Given the description of an element on the screen output the (x, y) to click on. 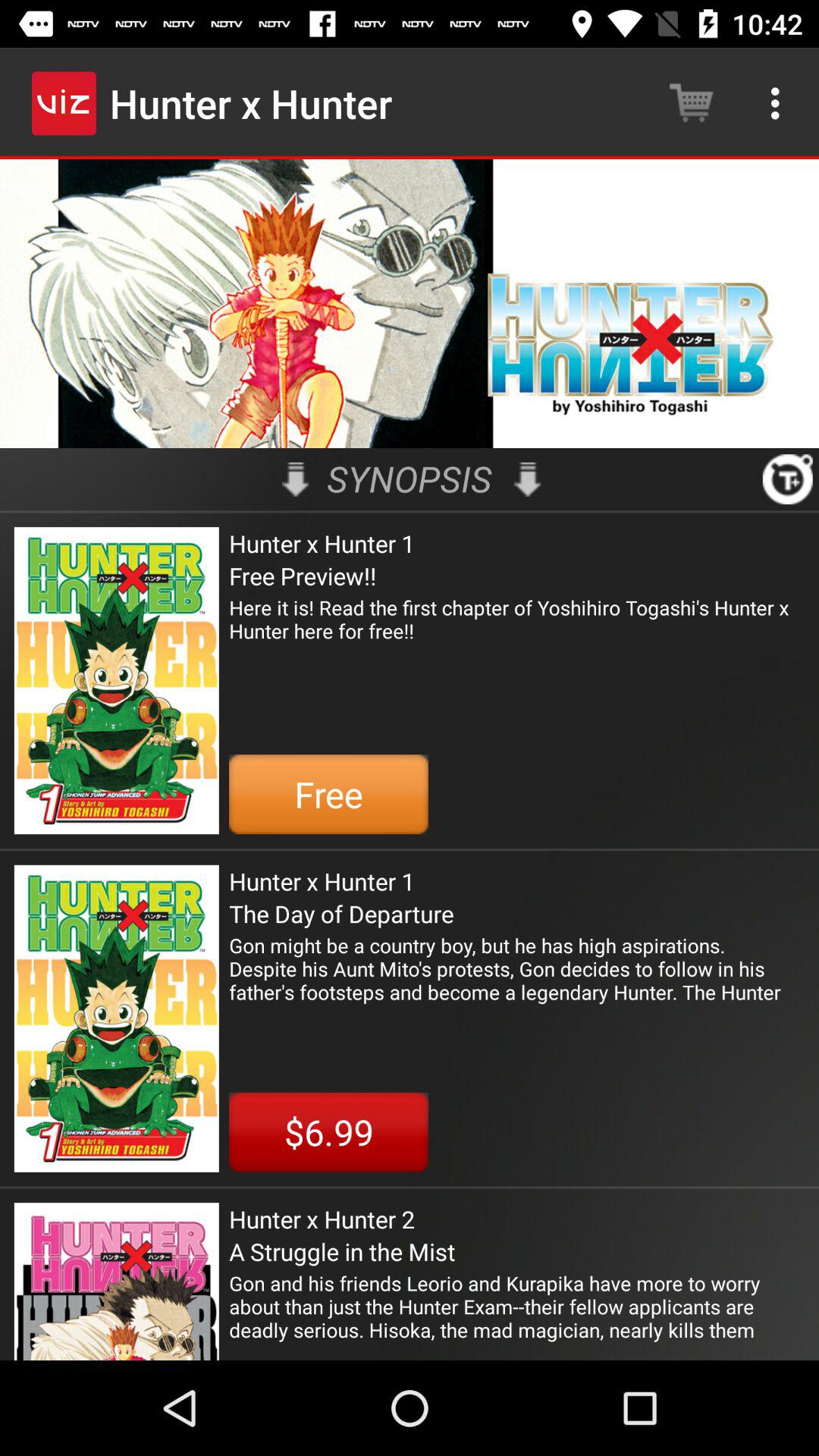
turn on icon above the $6.99 item (516, 968)
